Given the description of an element on the screen output the (x, y) to click on. 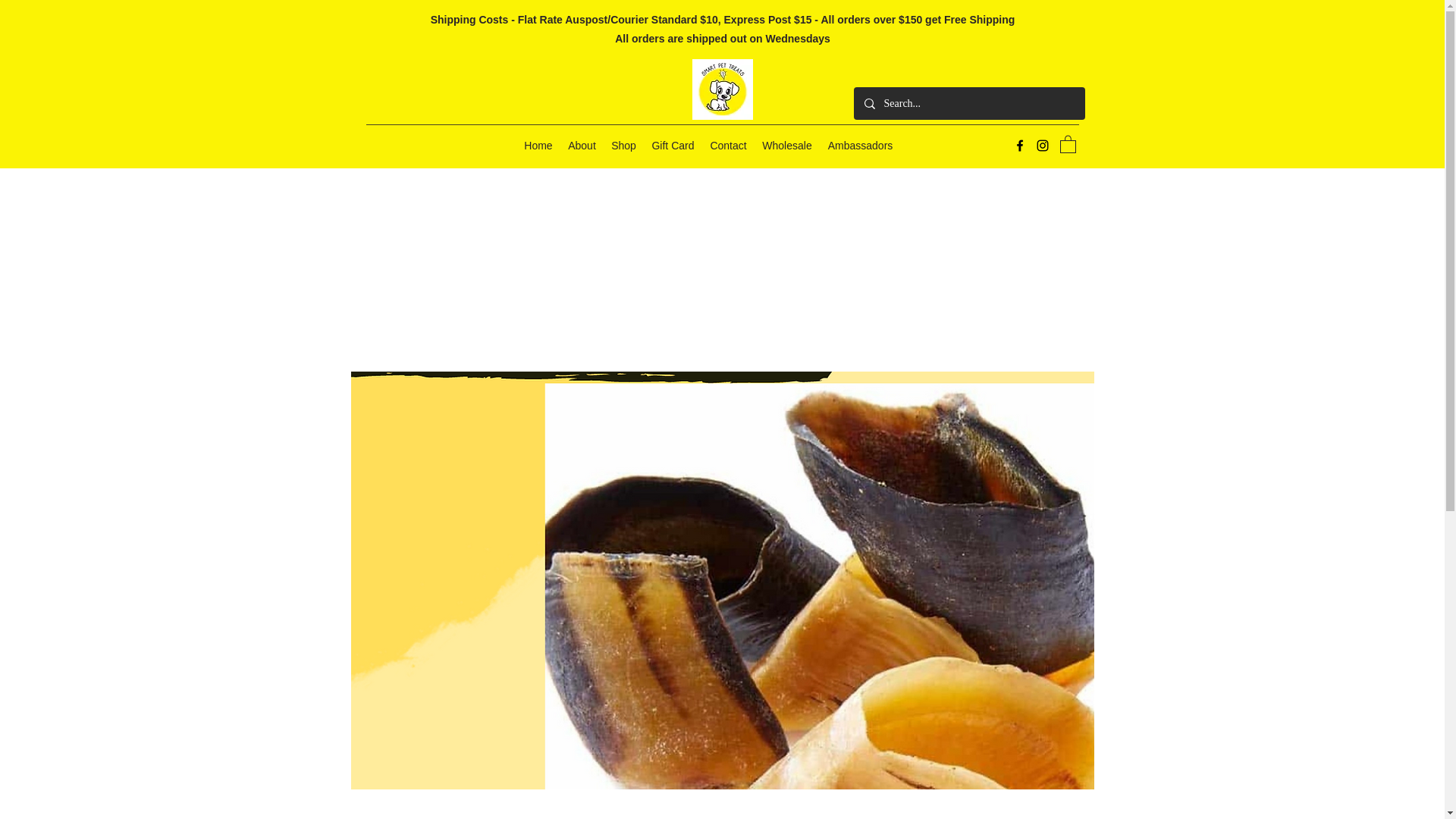
About (582, 145)
Home (538, 145)
Gift Card (672, 145)
Contact (727, 145)
Wholesale (786, 145)
Ambassadors (860, 145)
Shop (623, 145)
